Given the description of an element on the screen output the (x, y) to click on. 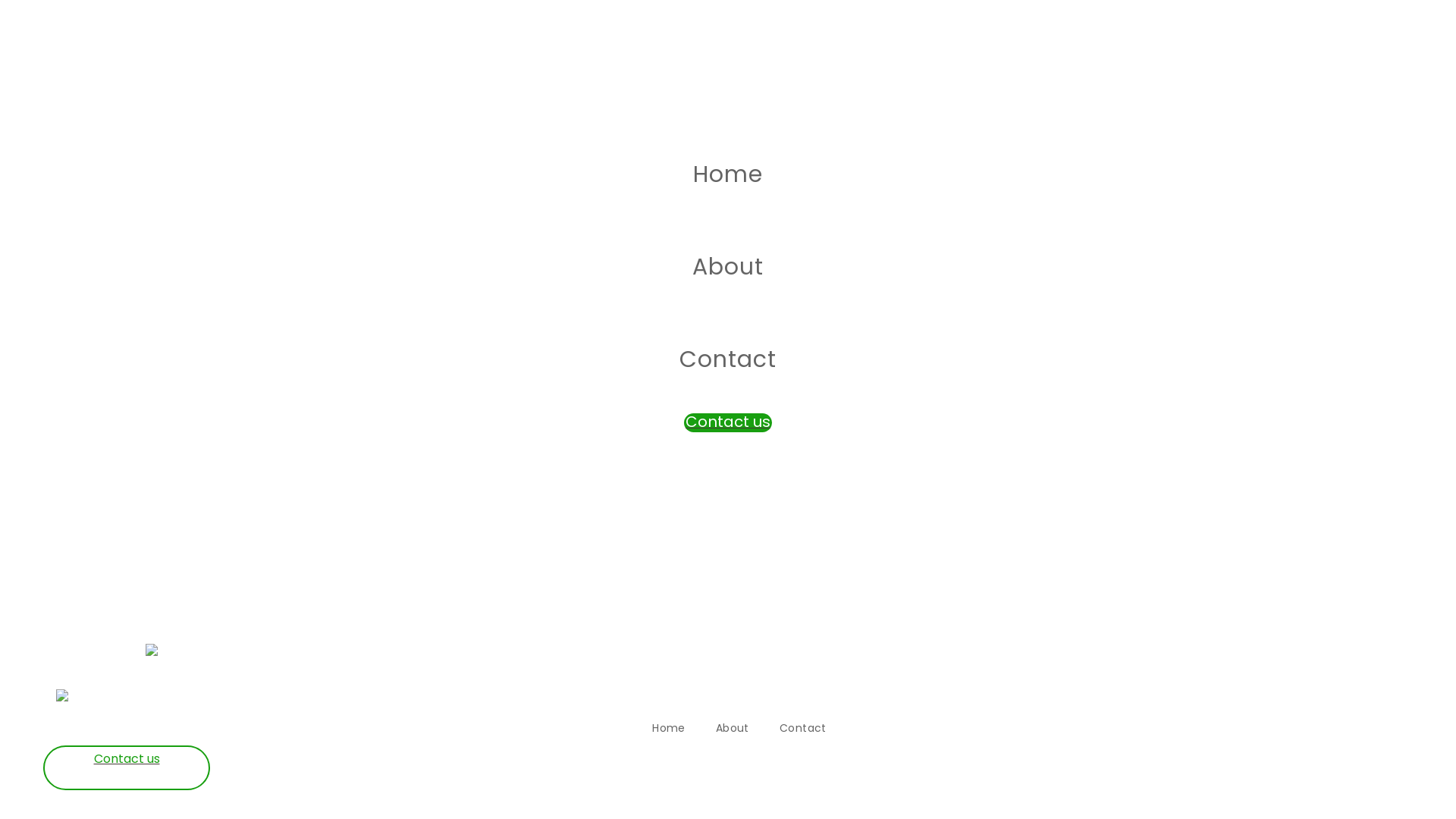
About Element type: text (727, 267)
Home Element type: text (727, 174)
Contact Element type: text (727, 359)
About Element type: text (732, 728)
Contact Element type: text (802, 728)
Contact us Element type: text (727, 422)
Contact us Element type: text (126, 767)
Home Element type: text (668, 728)
